Given the description of an element on the screen output the (x, y) to click on. 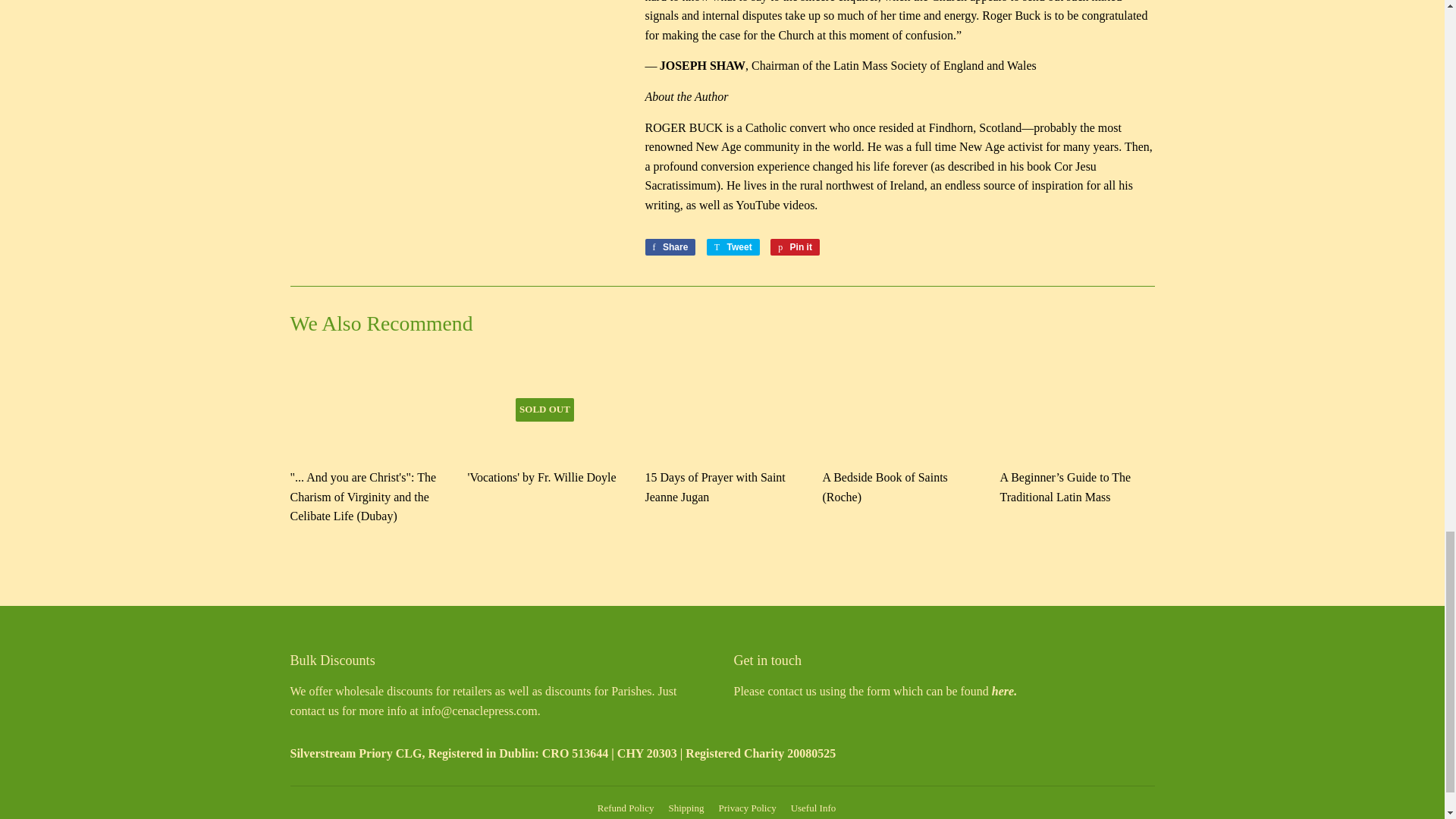
Tweet on Twitter (733, 247)
Pin on Pinterest (794, 247)
Share on Facebook (670, 247)
